Given the description of an element on the screen output the (x, y) to click on. 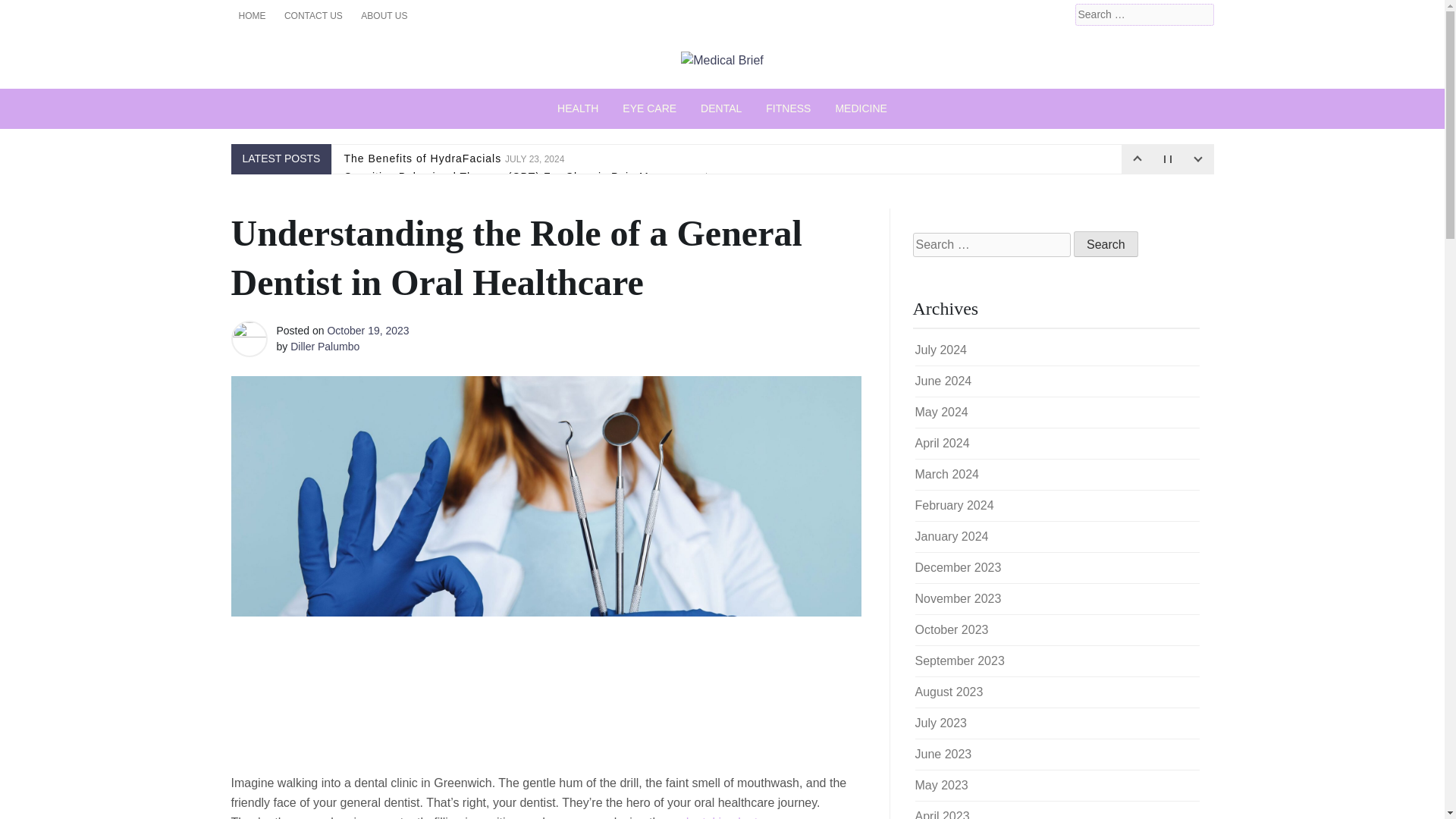
November 2023 (957, 598)
October 19, 2023 (367, 330)
ABOUT US (383, 15)
Search (1106, 243)
February 2024 (953, 504)
June 2024 (942, 380)
Diller Palumbo (324, 346)
HEALTH (577, 108)
Search (1106, 243)
Search (32, 12)
December 2023 (957, 567)
April 2024 (941, 442)
MEDICINE (860, 108)
The Benefits of HydraFacials JULY 23, 2024 (453, 158)
